Given the description of an element on the screen output the (x, y) to click on. 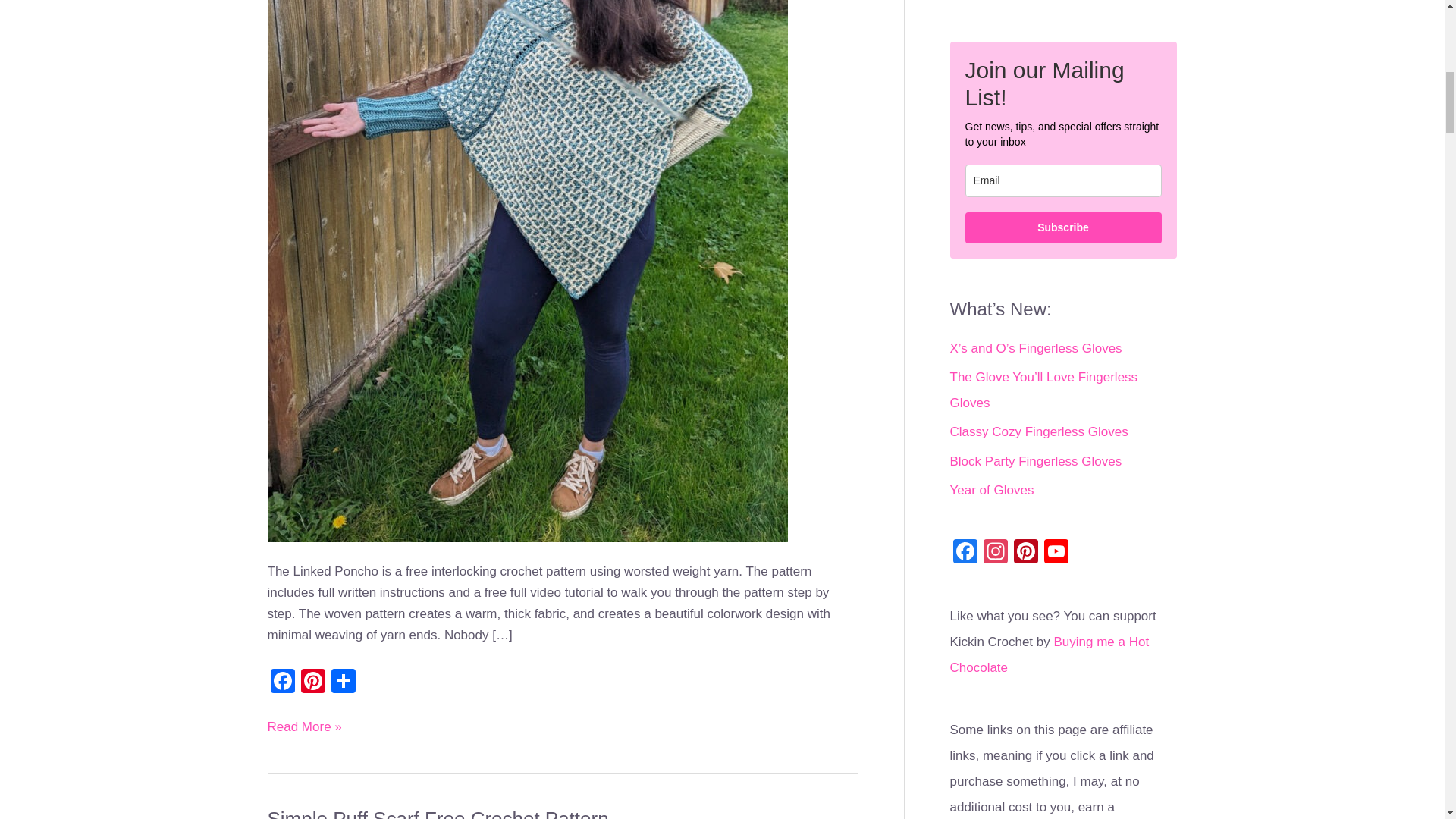
Facebook (281, 682)
Share (342, 682)
Simple Puff Scarf Free Crochet Pattern (437, 813)
Facebook (281, 682)
Pinterest (312, 682)
Pinterest (312, 682)
